Given the description of an element on the screen output the (x, y) to click on. 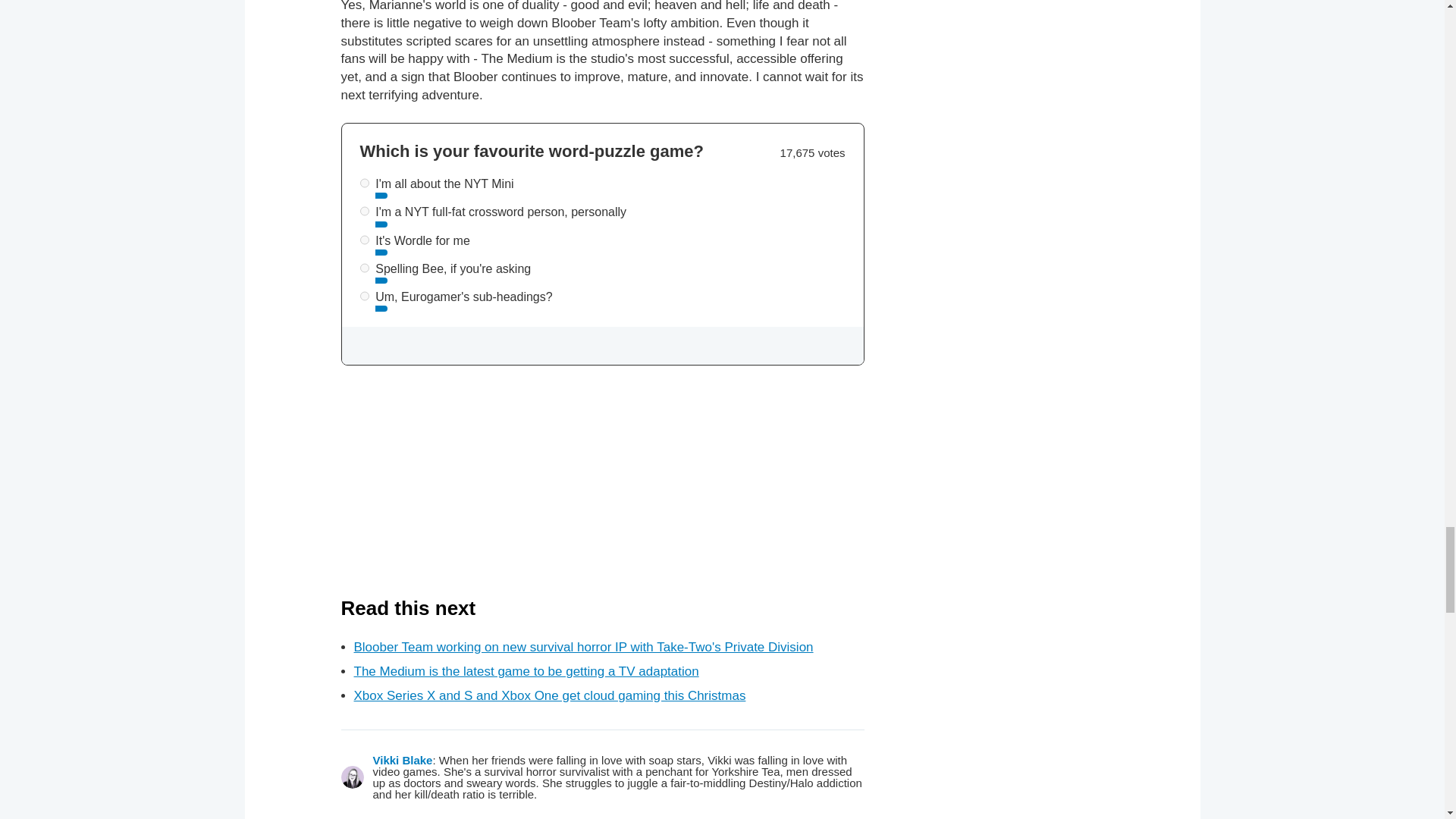
on (364, 267)
on (364, 183)
on (364, 296)
on (364, 211)
on (364, 239)
